Given the description of an element on the screen output the (x, y) to click on. 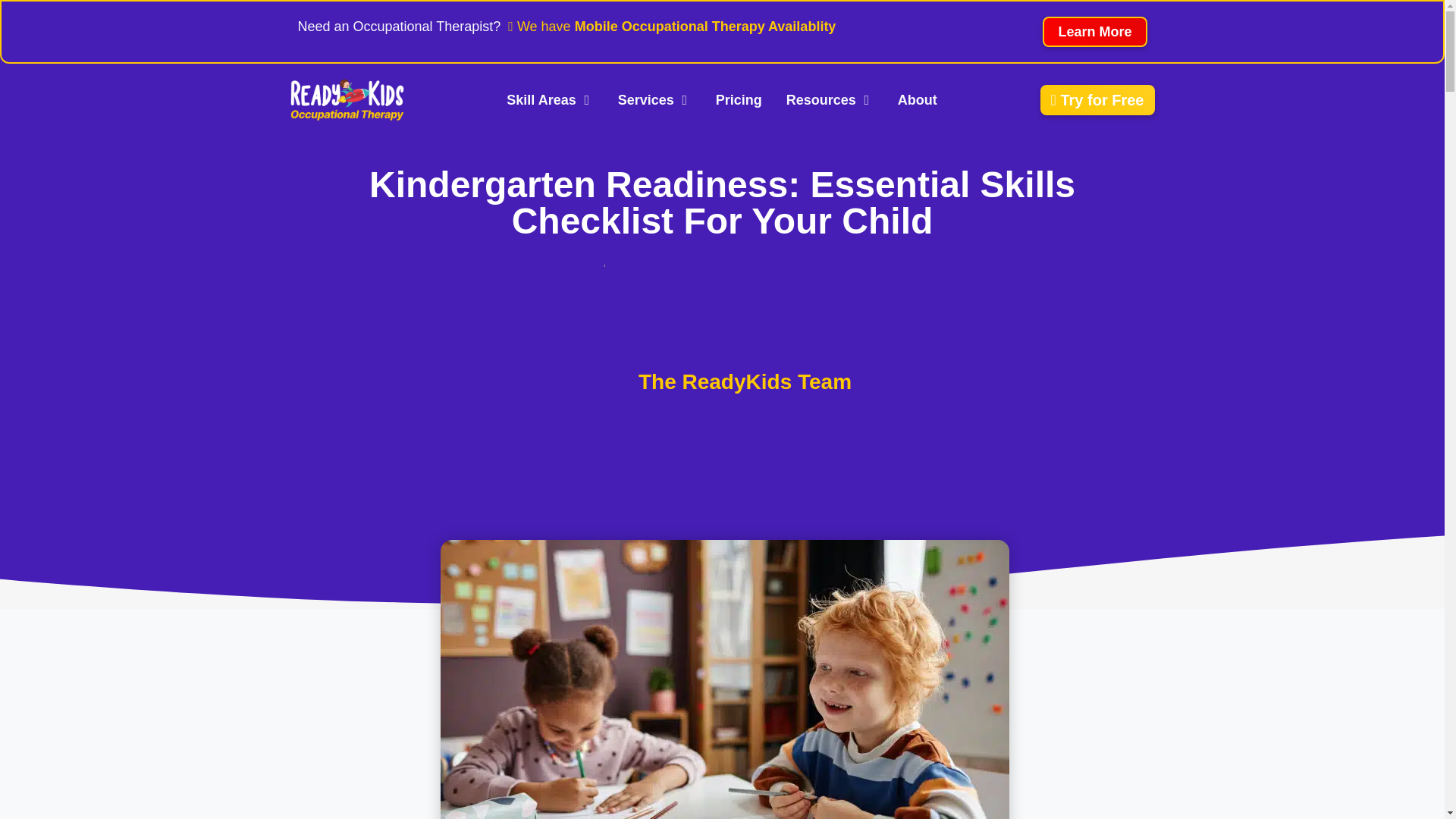
Learn More (1094, 31)
The ReadyKids Team (721, 381)
About (917, 100)
Pricing (738, 100)
